Given the description of an element on the screen output the (x, y) to click on. 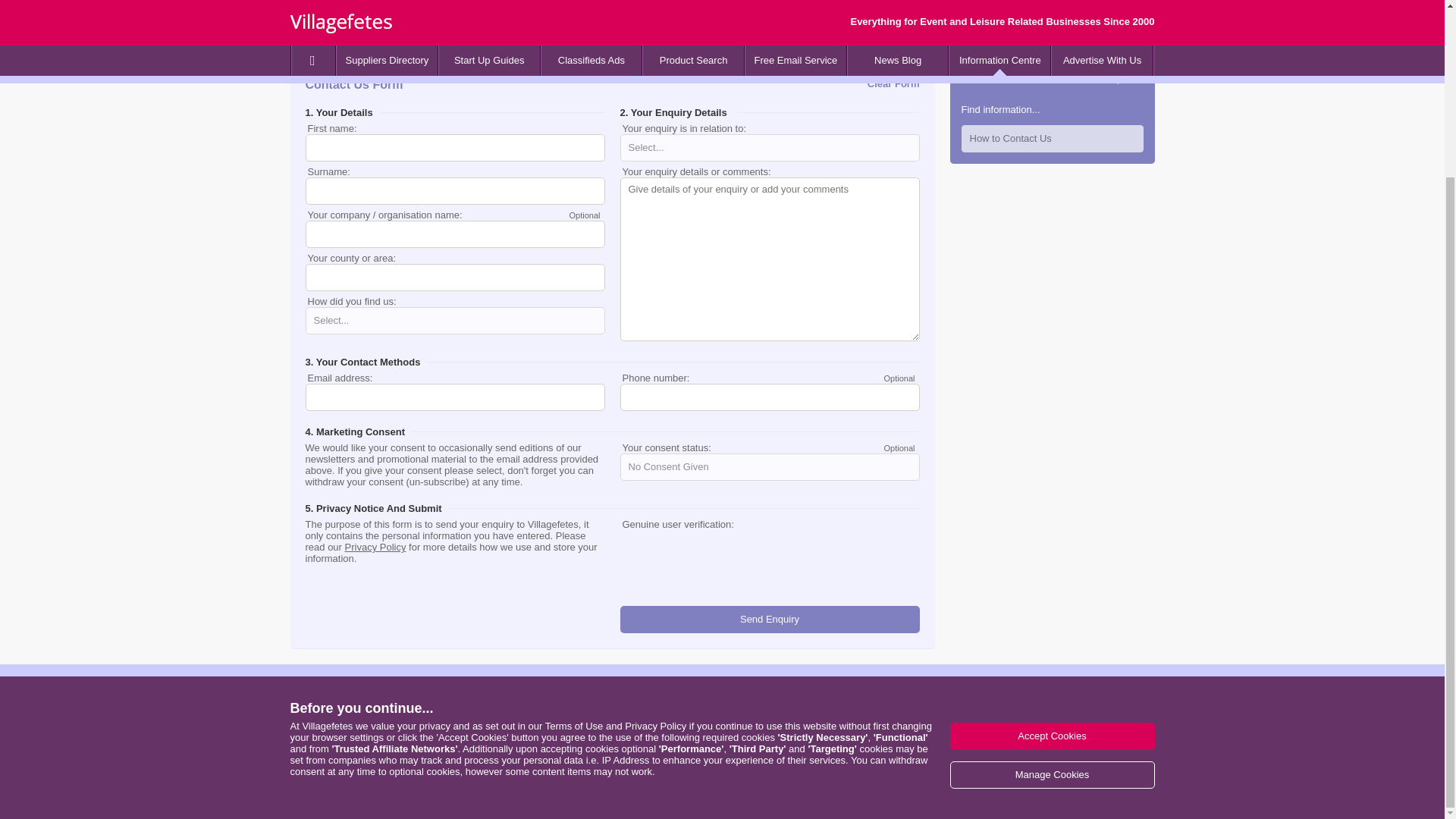
Terms and Conditions of Use (320, 799)
Latest News (622, 737)
Newsletters (622, 726)
Accept Cookies (1051, 520)
Terms and Conditions of Use (574, 510)
Report a Problem (602, 799)
Banner Links to Us (638, 748)
Privacy Policy Statement (385, 799)
Accessibility and Compatibility (541, 799)
Privacy Policy (375, 546)
Send Enquiry (770, 619)
Advertising Enquiries (772, 703)
Company Information (1116, 799)
Privacy Policy Statement (654, 510)
Copyright Statement (853, 799)
